Given the description of an element on the screen output the (x, y) to click on. 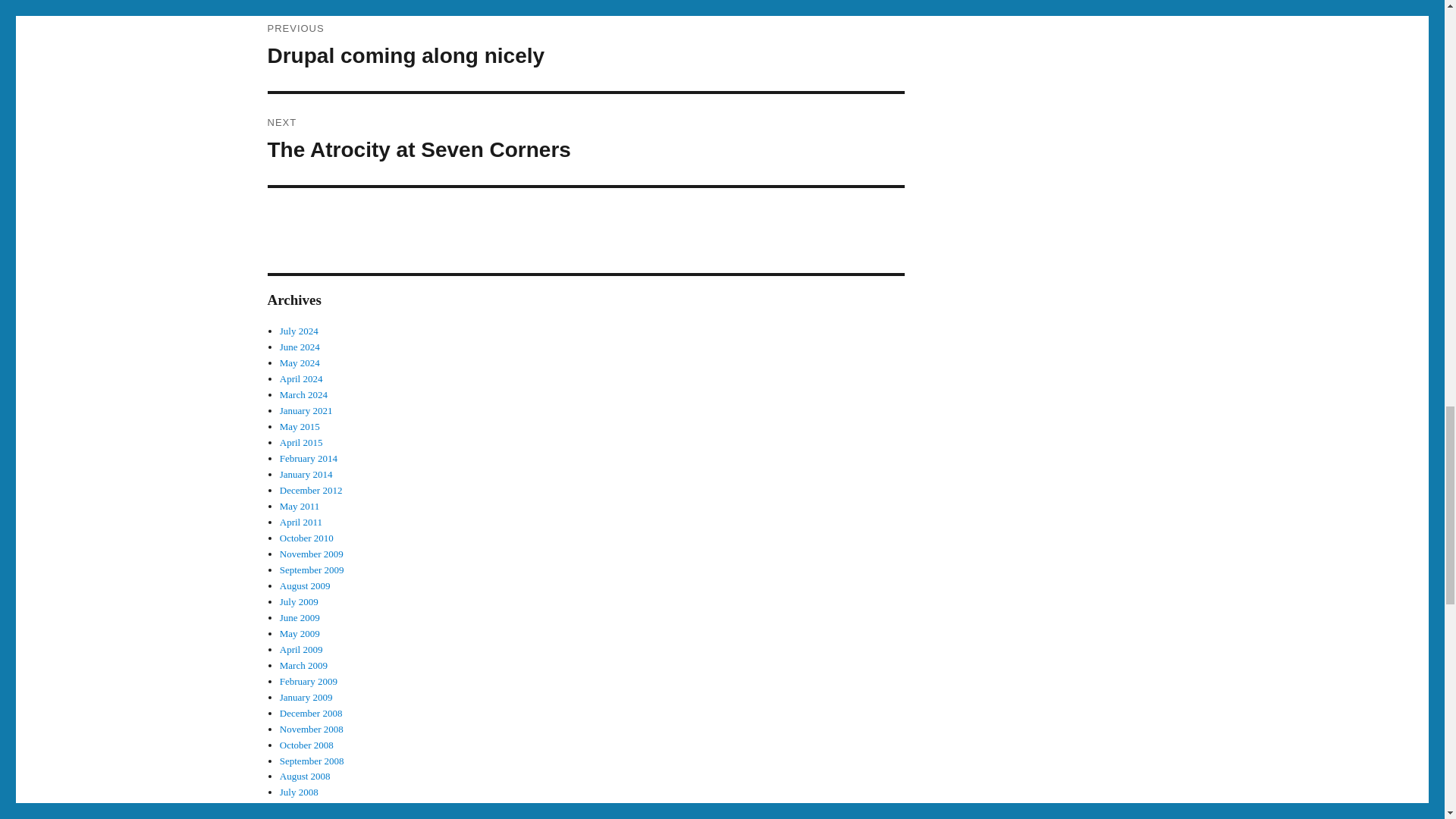
June 2024 (299, 346)
July 2009 (298, 601)
November 2008 (585, 45)
April 2015 (311, 728)
August 2009 (301, 441)
January 2014 (304, 585)
May 2024 (306, 473)
May 2009 (299, 362)
May 2015 (299, 633)
